Given the description of an element on the screen output the (x, y) to click on. 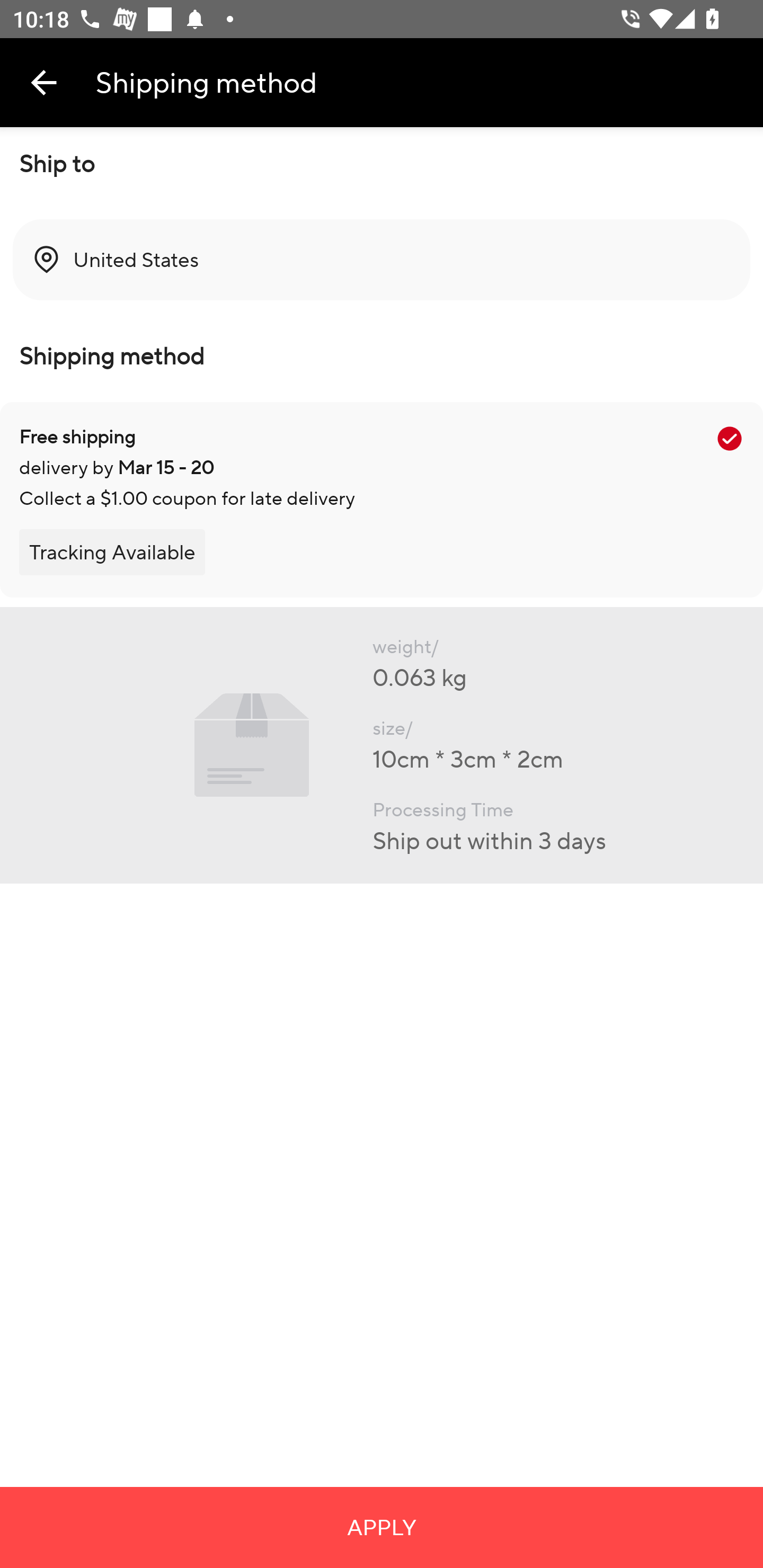
 United States (381, 260)
APPLY (381, 1527)
